Given the description of an element on the screen output the (x, y) to click on. 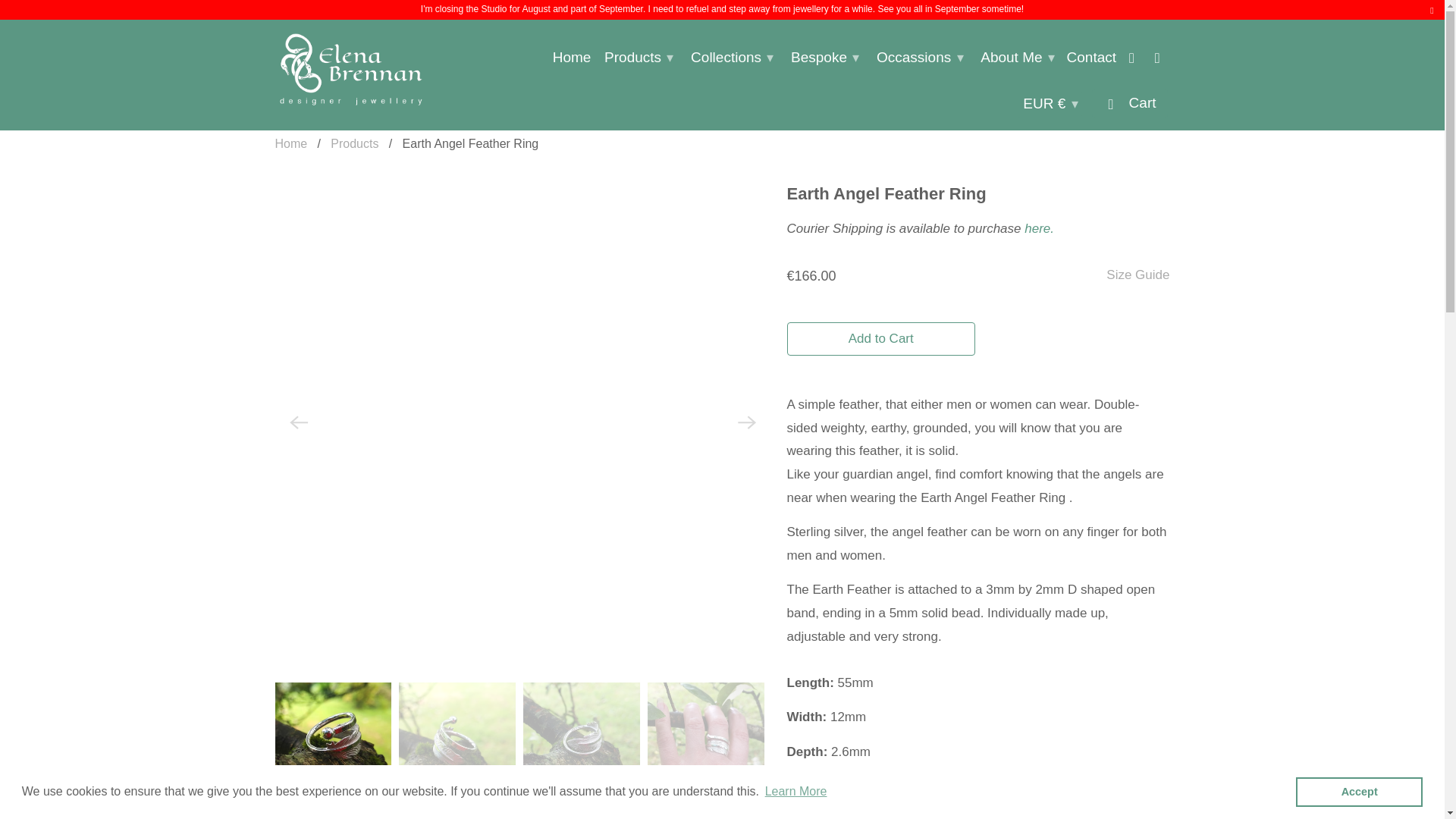
Products (354, 143)
Elena Brennan Jewellery (291, 143)
